Given the description of an element on the screen output the (x, y) to click on. 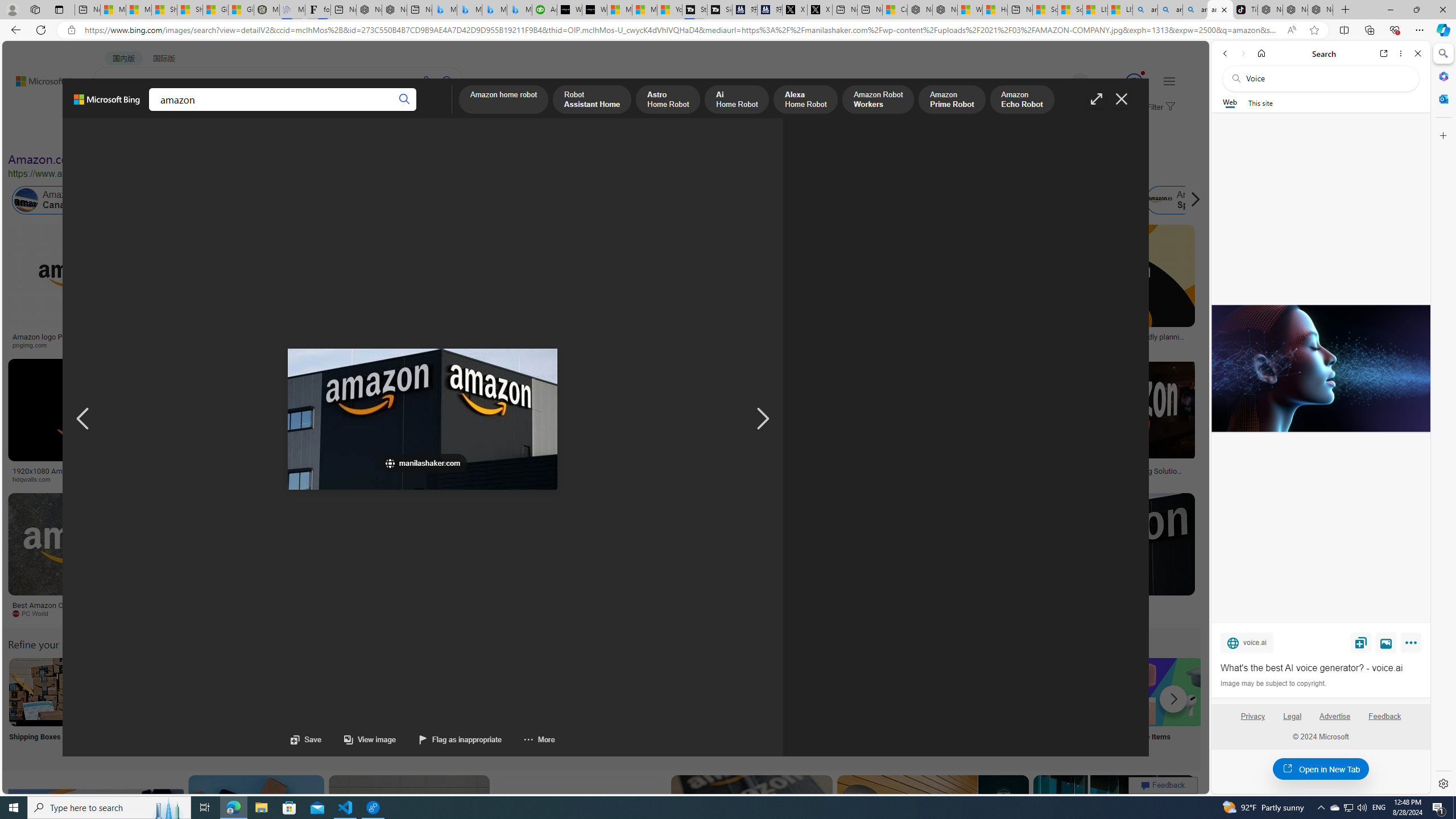
Scroll right (1192, 199)
mytotalretail.com (180, 344)
What's the best AI voice generator? - voice.ai (593, 9)
Image may be subject to copyright. (1273, 682)
Amazon Animals (426, 199)
Close image (1121, 99)
Nordace Siena Pro 15 Backpack (1295, 9)
Astro Home Robot (668, 100)
MAPS (397, 111)
Color (173, 135)
